Given the description of an element on the screen output the (x, y) to click on. 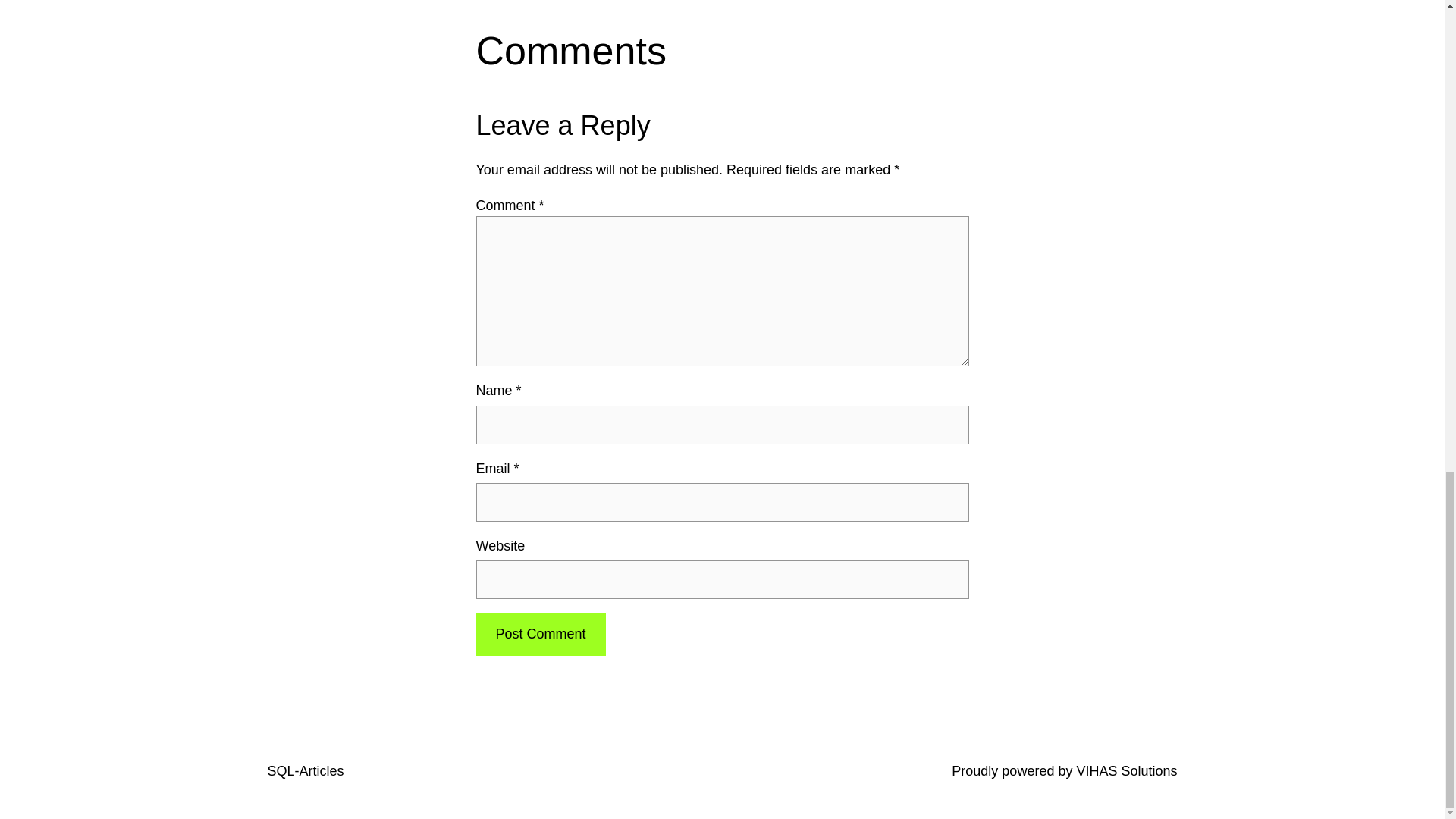
Post Comment (540, 634)
SQL-Articles (304, 770)
Post Comment (540, 634)
